Given the description of an element on the screen output the (x, y) to click on. 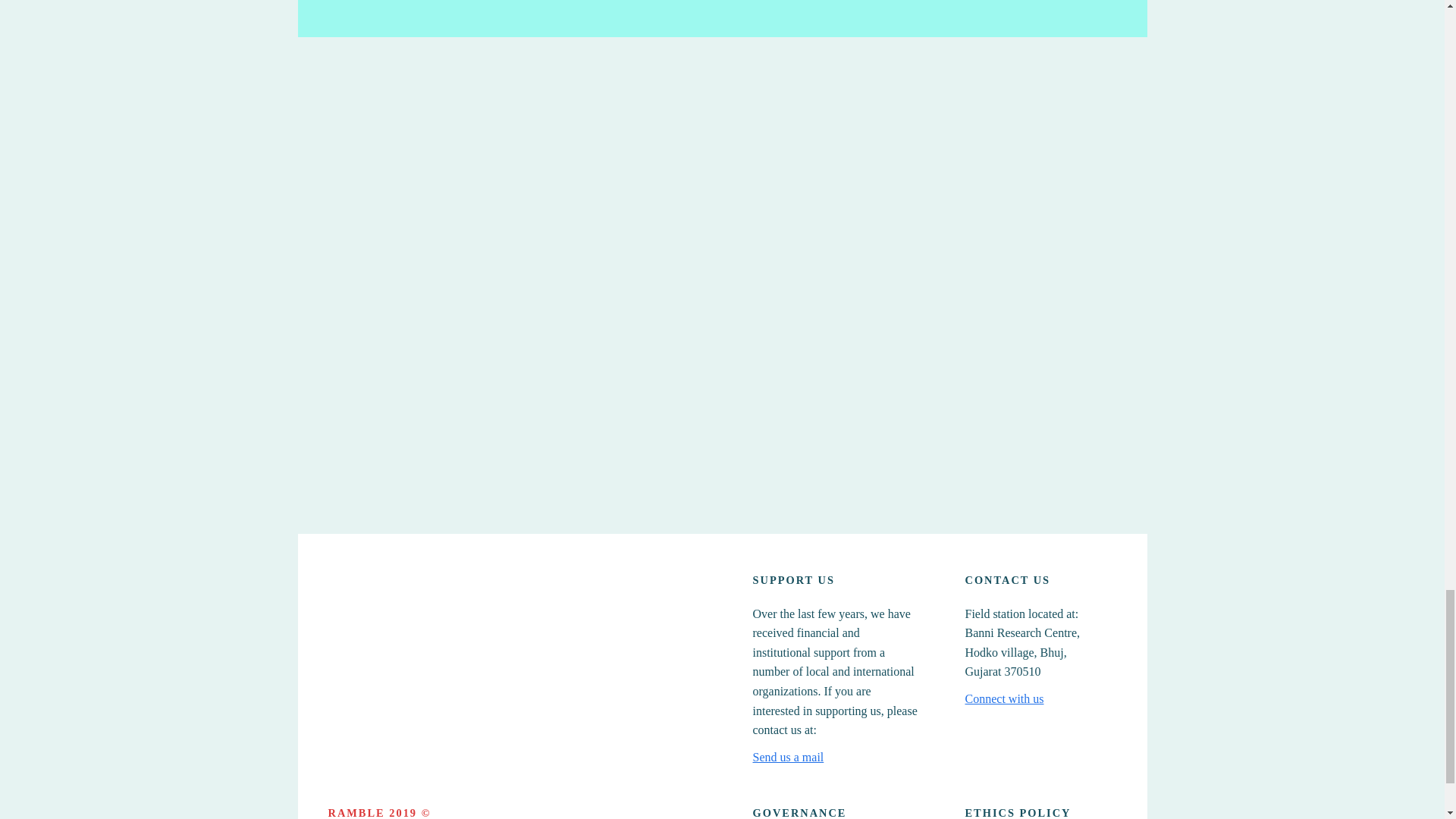
Send us a mail (788, 757)
GOVERNANCE (798, 811)
Connect with us (1003, 699)
ETHICS POLICY (1016, 811)
